Given the description of an element on the screen output the (x, y) to click on. 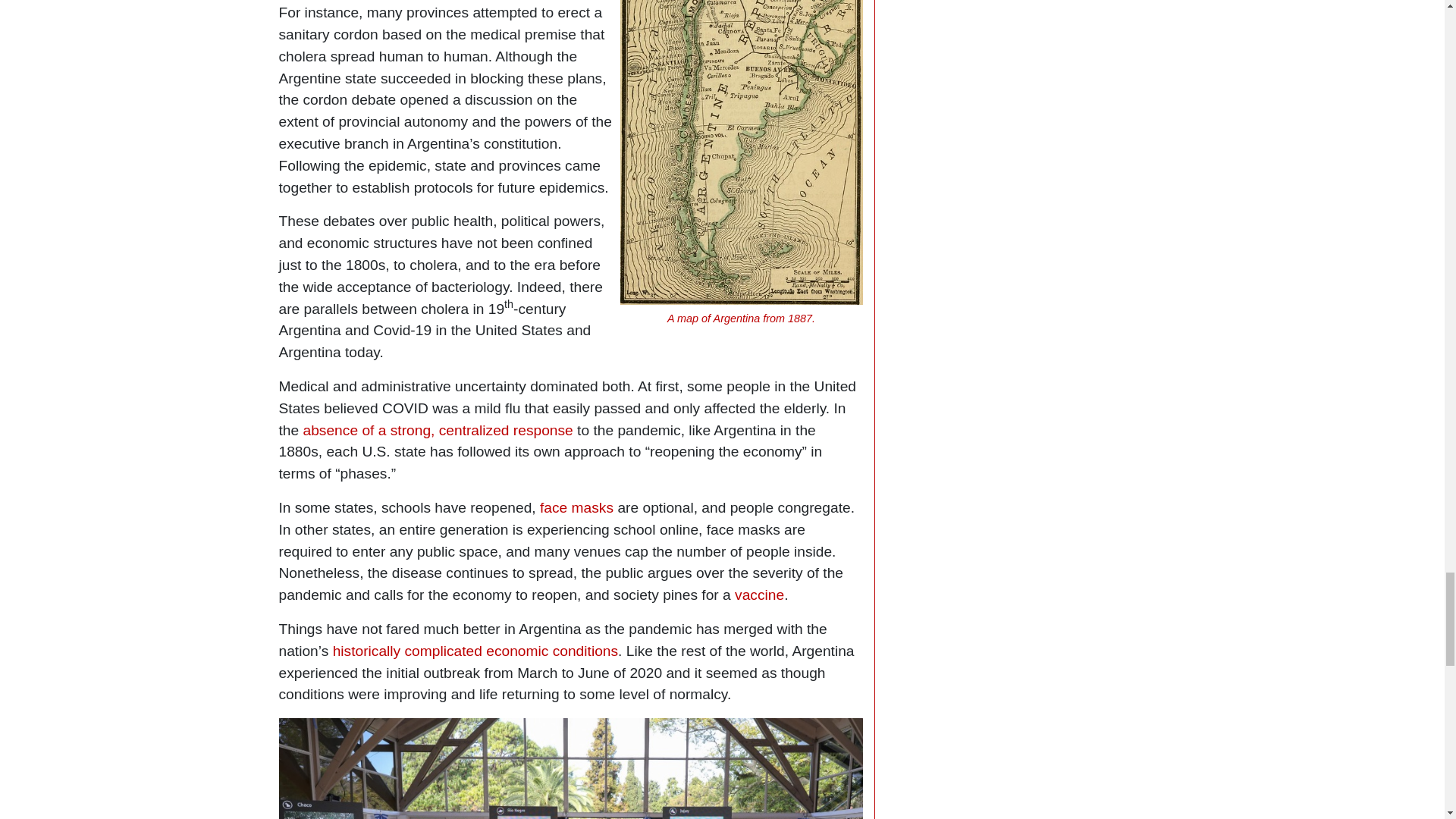
A map of Argentina from 1887. (740, 318)
absence of a strong, centralized response (437, 430)
